Given the description of an element on the screen output the (x, y) to click on. 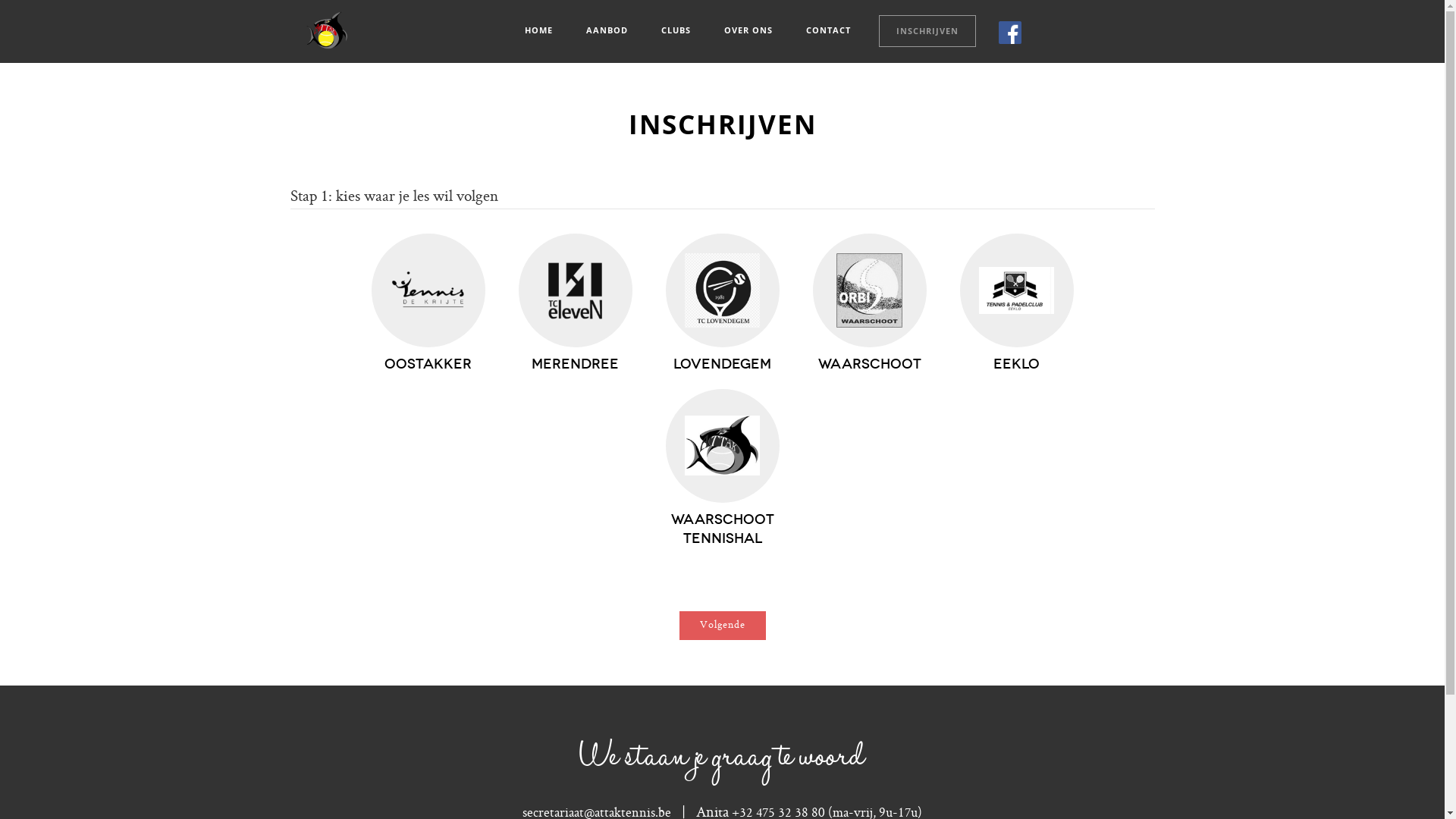
Volgende Element type: text (722, 625)
CLUBS Element type: text (675, 30)
CONTACT Element type: text (827, 30)
AANBOD Element type: text (605, 30)
Attak op Facebook Element type: hover (1008, 32)
OVER ONS Element type: text (747, 30)
INSCHRIJVEN Element type: text (926, 31)
HOME Element type: text (538, 30)
